Given the description of an element on the screen output the (x, y) to click on. 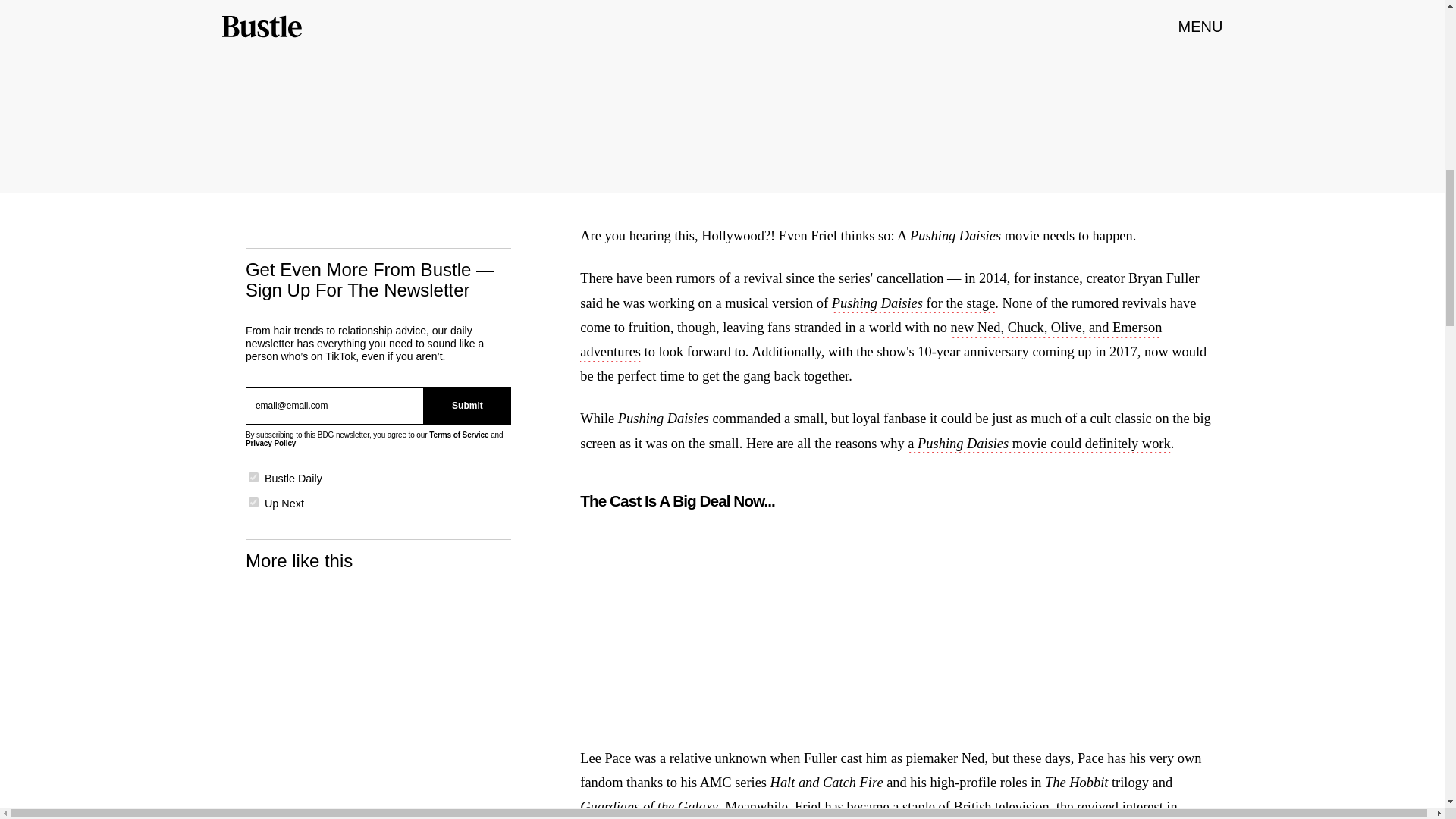
Pushing Daisies for the stage (913, 304)
a Pushing Daisies movie could definitely work (1038, 444)
Submit (467, 405)
new Ned, Chuck, Olive, and Emerson adventures (870, 341)
Privacy Policy (270, 442)
Terms of Service (458, 434)
